Given the description of an element on the screen output the (x, y) to click on. 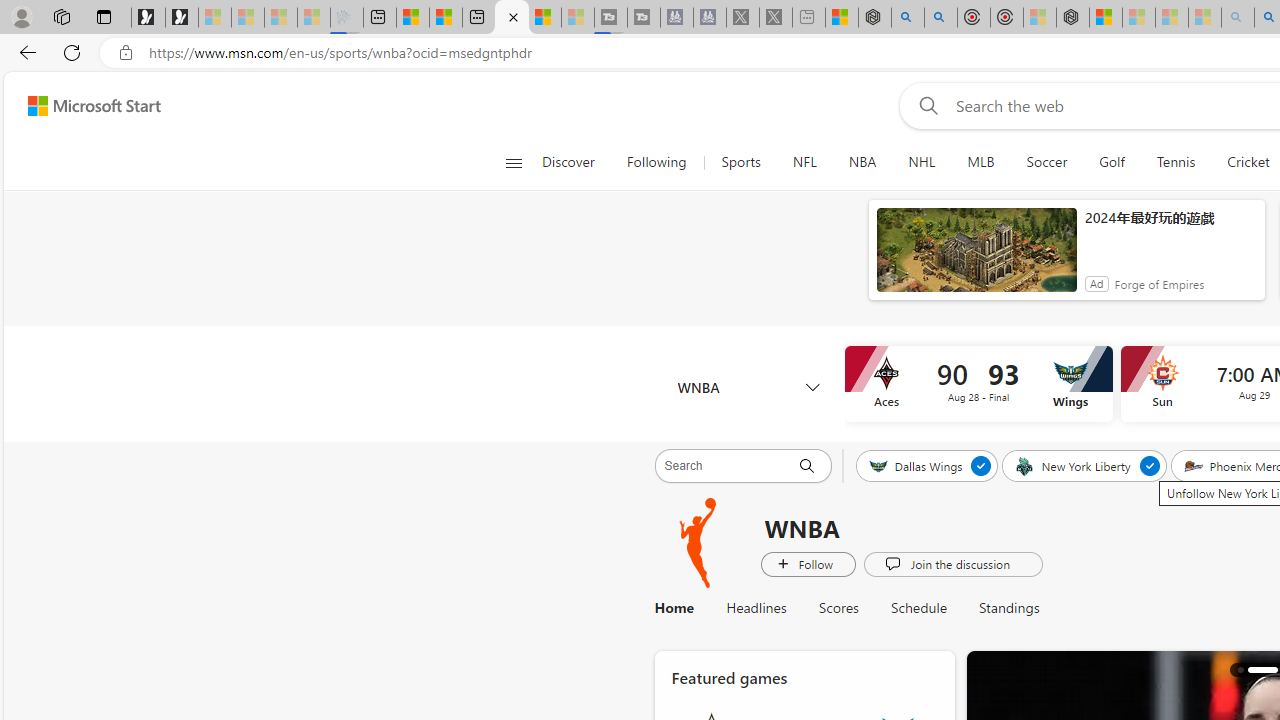
Cricket (1248, 162)
WNBA (699, 543)
NFL (804, 162)
Unfollow New York Liberty (1149, 465)
Open navigation menu (513, 162)
Schedule (919, 607)
Skip to footer (82, 105)
Home (674, 607)
